Given the description of an element on the screen output the (x, y) to click on. 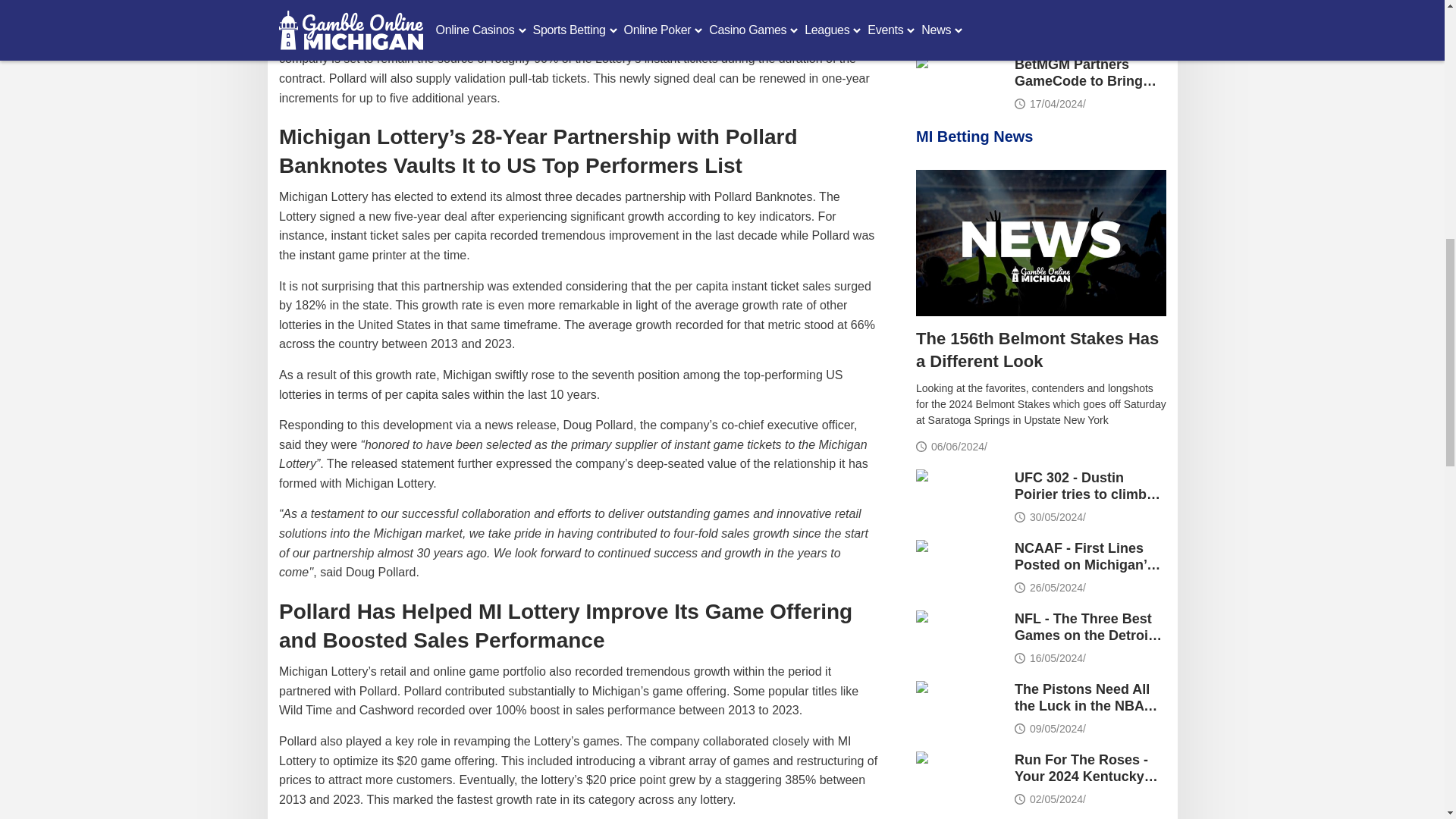
Detroit Lions Sport News (959, 635)
Michigan Wolverines Sports News (959, 564)
News (1040, 242)
News (959, 776)
News (959, 81)
Detroit Pistons Sport News (959, 706)
UFC News (959, 494)
News (959, 18)
